Given the description of an element on the screen output the (x, y) to click on. 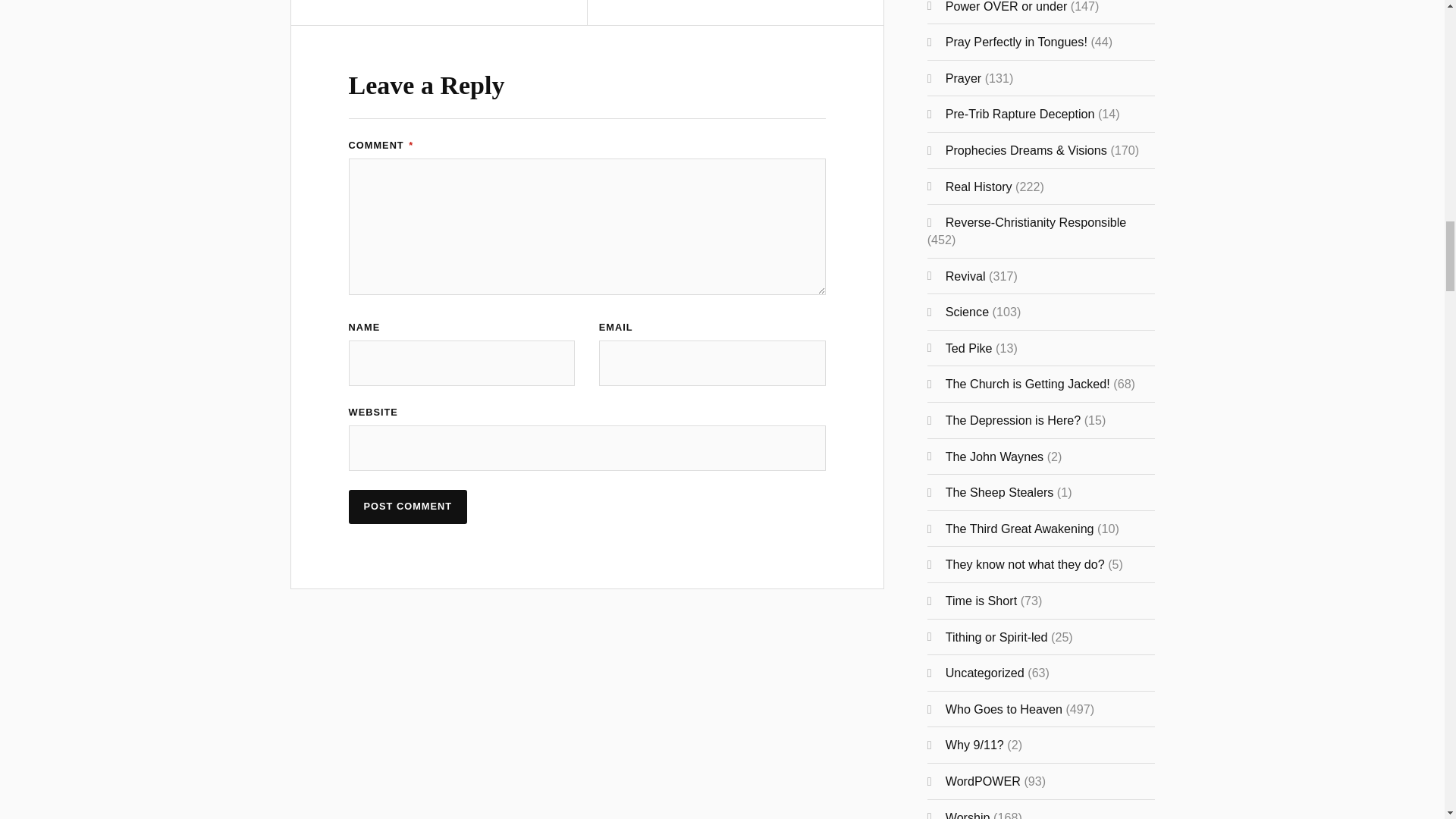
Post Comment (408, 506)
Post Comment (408, 506)
